Given the description of an element on the screen output the (x, y) to click on. 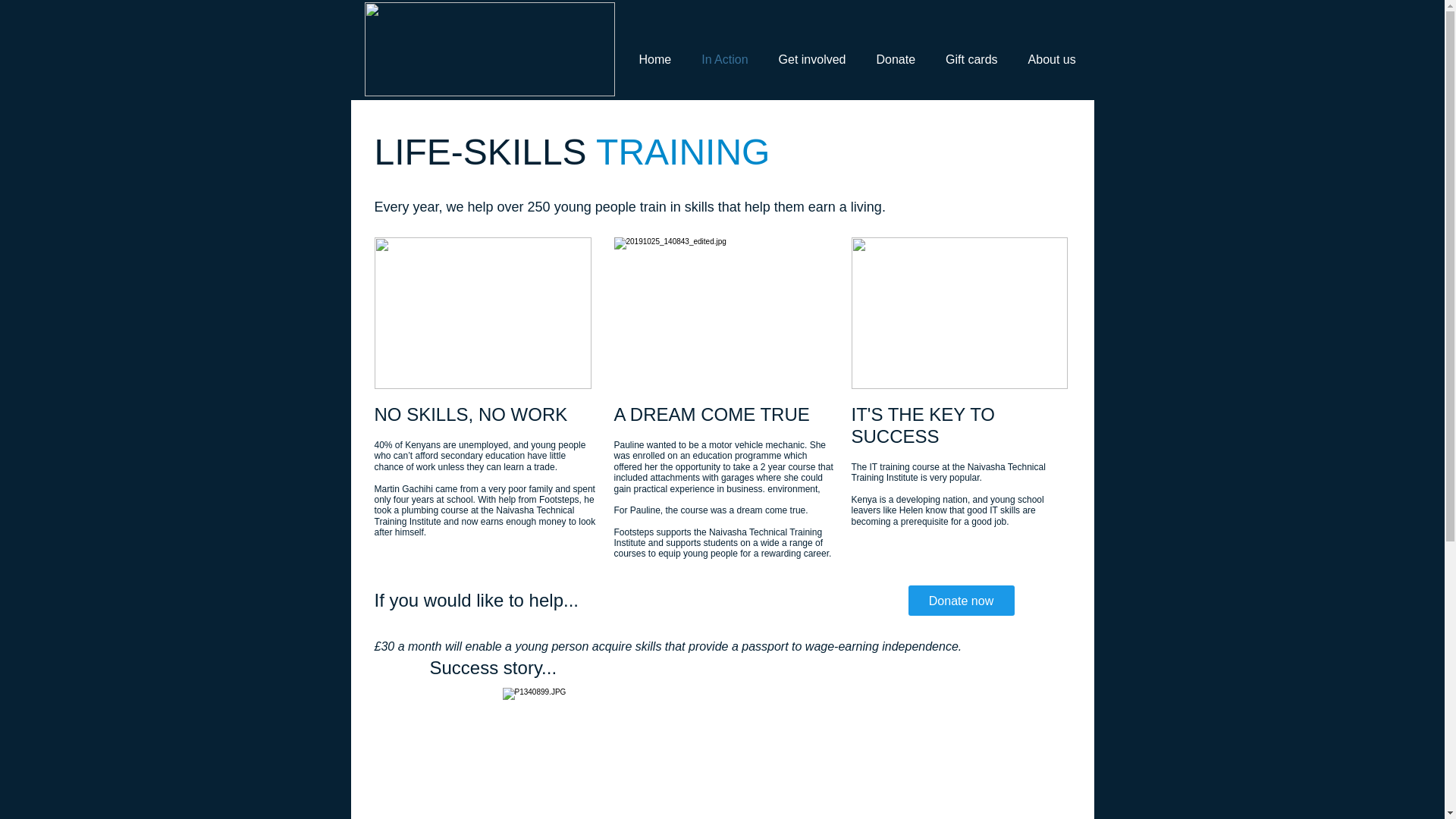
Gift cards (970, 60)
Donate (896, 60)
In Action (723, 60)
Footsteps International (489, 49)
Donate now (961, 600)
About us (1051, 60)
Home (654, 60)
Get involved (811, 60)
